Given the description of an element on the screen output the (x, y) to click on. 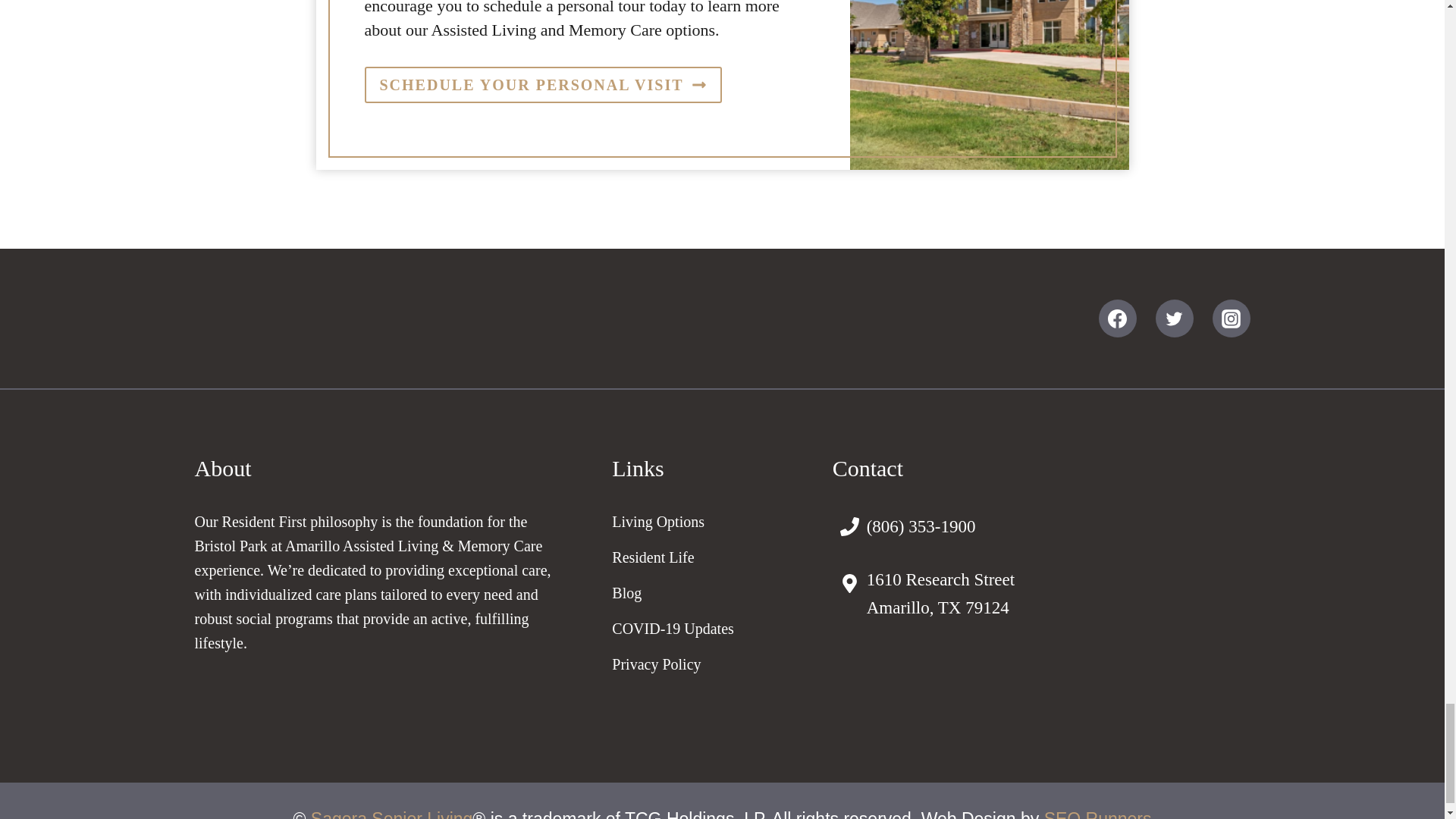
Blog (710, 592)
Privacy Policy (710, 663)
COVID-19 Updates (710, 628)
Sagora Senior Living (392, 814)
SEO Runners (1097, 814)
Resident Life (710, 557)
SCHEDULE YOUR PERSONAL VISIT (542, 84)
Living Options (710, 521)
